Given the description of an element on the screen output the (x, y) to click on. 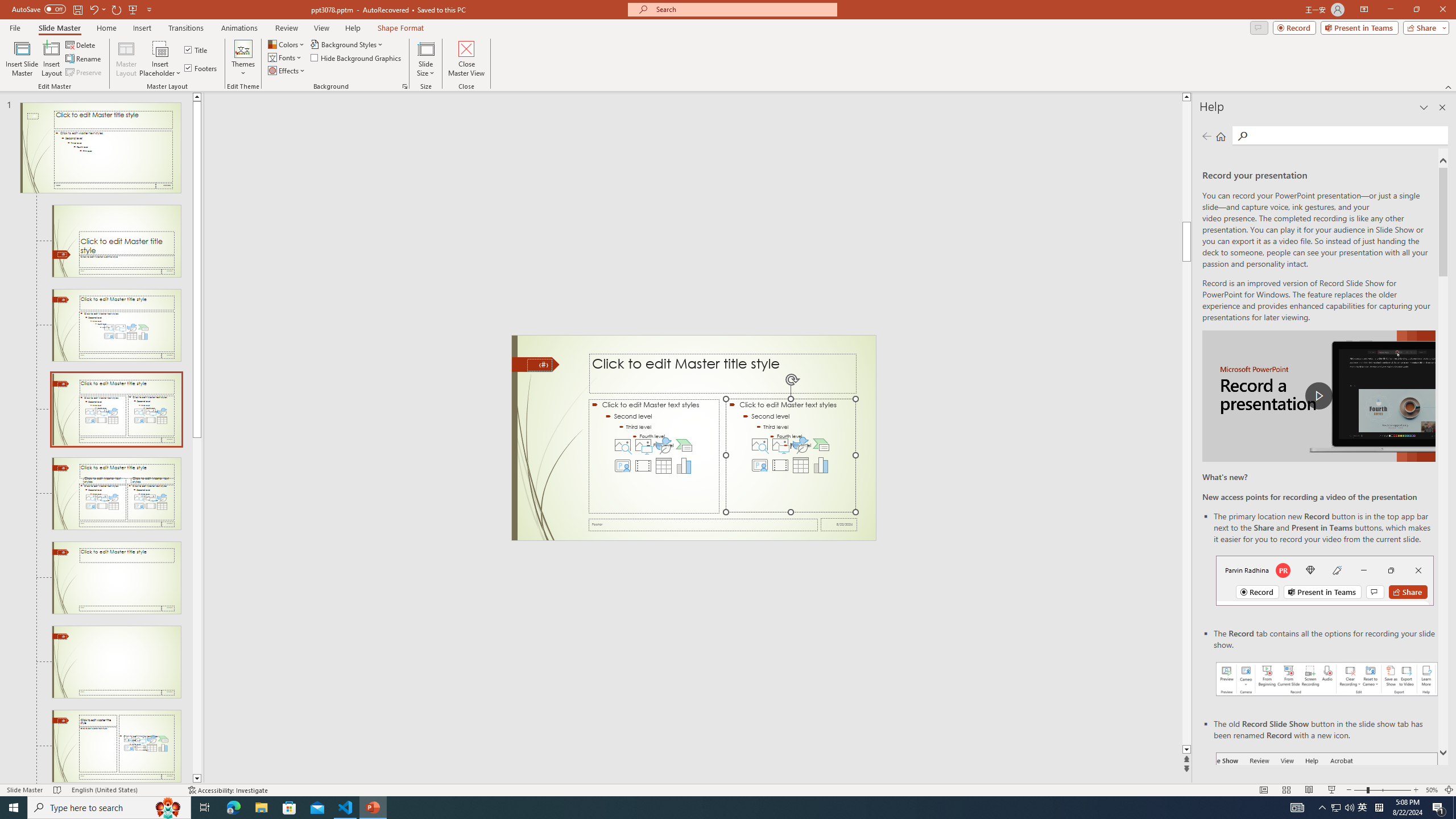
Zoom 50% (1431, 790)
Insert Chart (820, 465)
Record your presentations screenshot one (1326, 678)
Insert an Icon (800, 444)
Footers (201, 67)
Date (839, 524)
Content (160, 48)
Background Styles (347, 44)
